Given the description of an element on the screen output the (x, y) to click on. 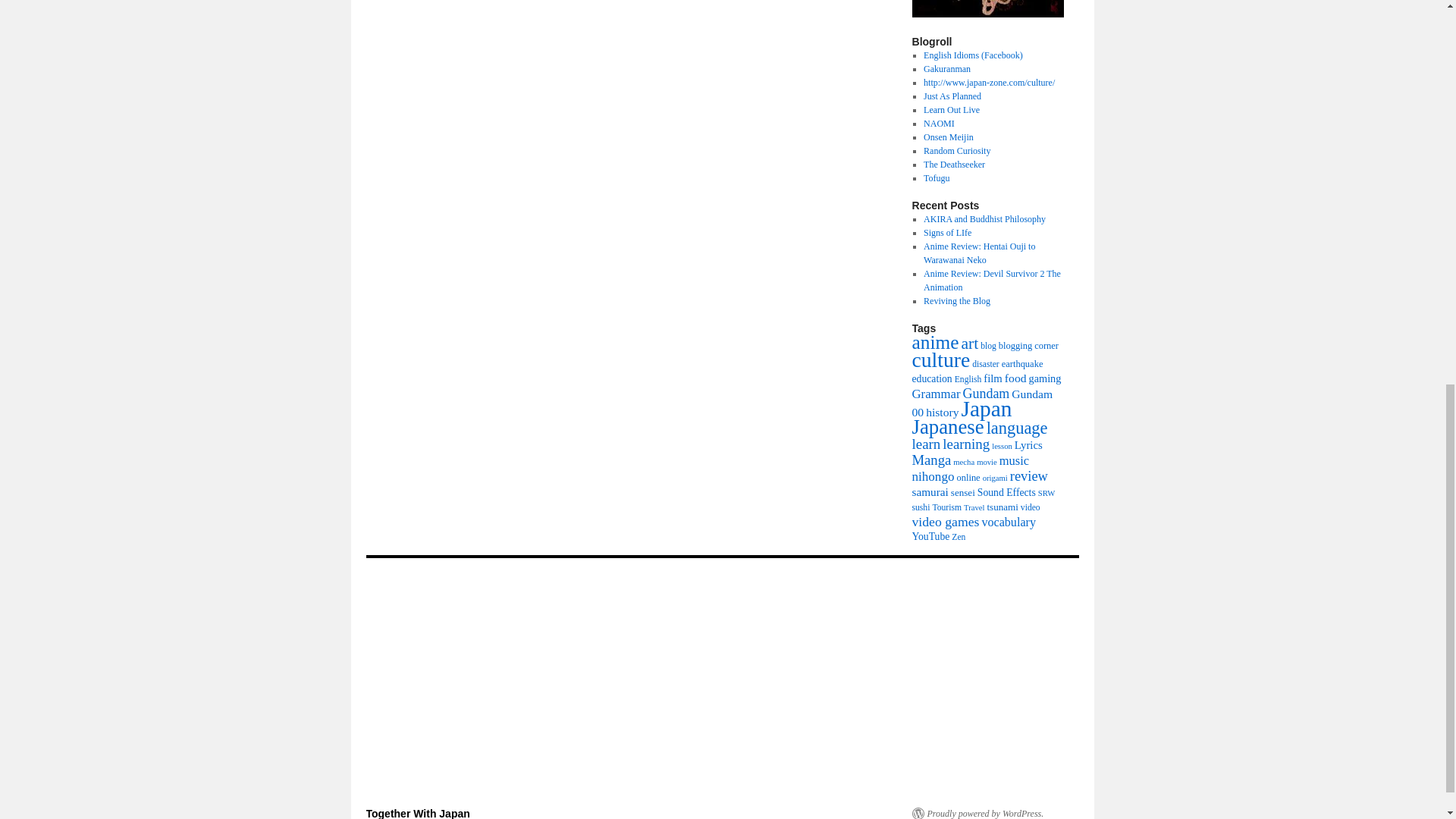
Gakuranman (947, 68)
Friendly Online Tutoring (951, 109)
Blog by Velocity7, who I have interviewed for my blog.  (939, 122)
Another interesting anime blog. (954, 163)
A blog covering several current anime shows in Japan.  (956, 150)
An anime blog I took an instant liking to.  (952, 95)
